Given the description of an element on the screen output the (x, y) to click on. 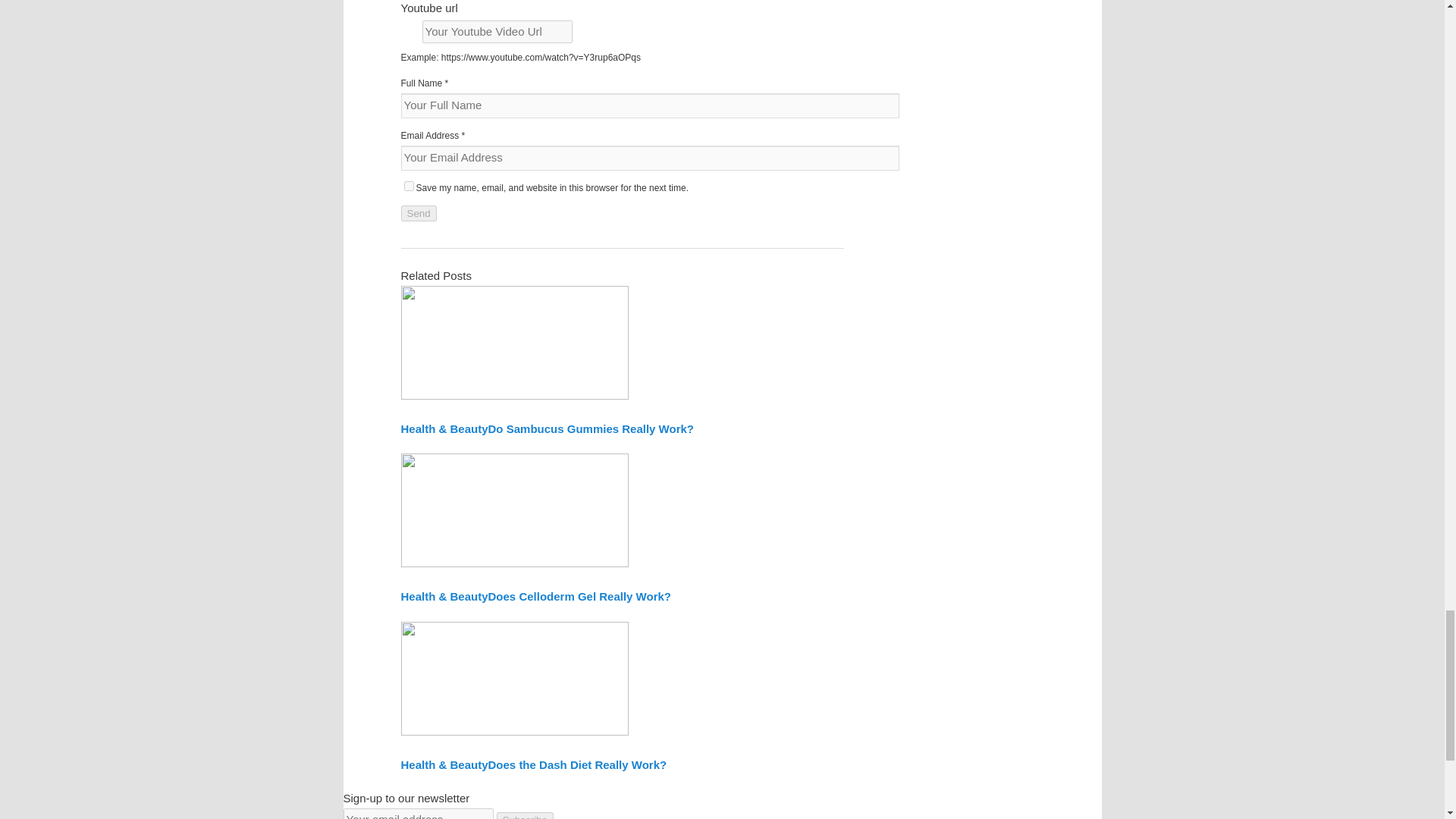
Do Sambucus Gummies Really Work? (590, 428)
Send (417, 213)
Subscribe (524, 815)
yes (408, 185)
Does Celloderm Gel Really Work? (579, 595)
Does the Dash Diet Really Work? (576, 764)
